Given the description of an element on the screen output the (x, y) to click on. 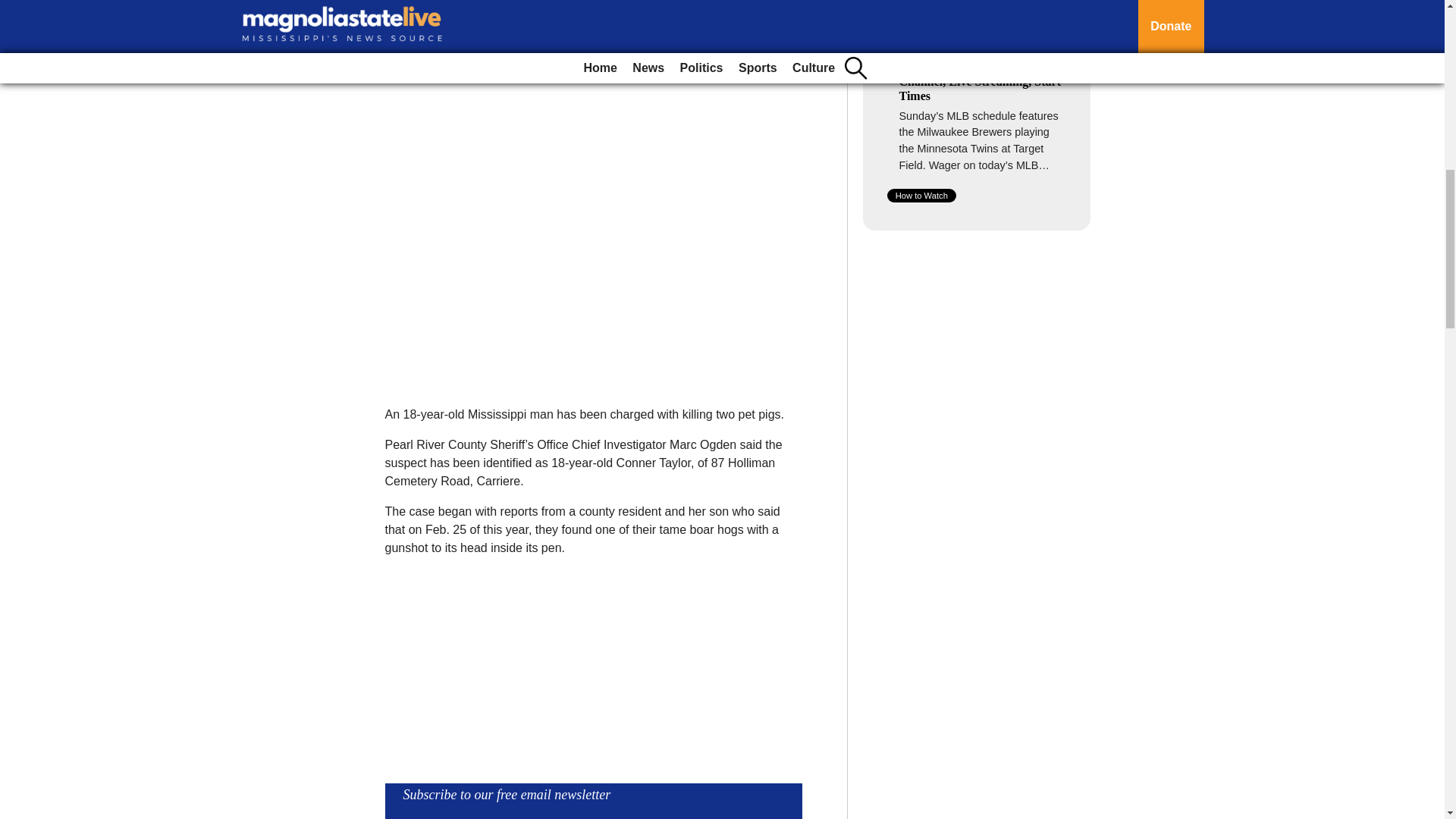
How to Watch (921, 195)
